Given the description of an element on the screen output the (x, y) to click on. 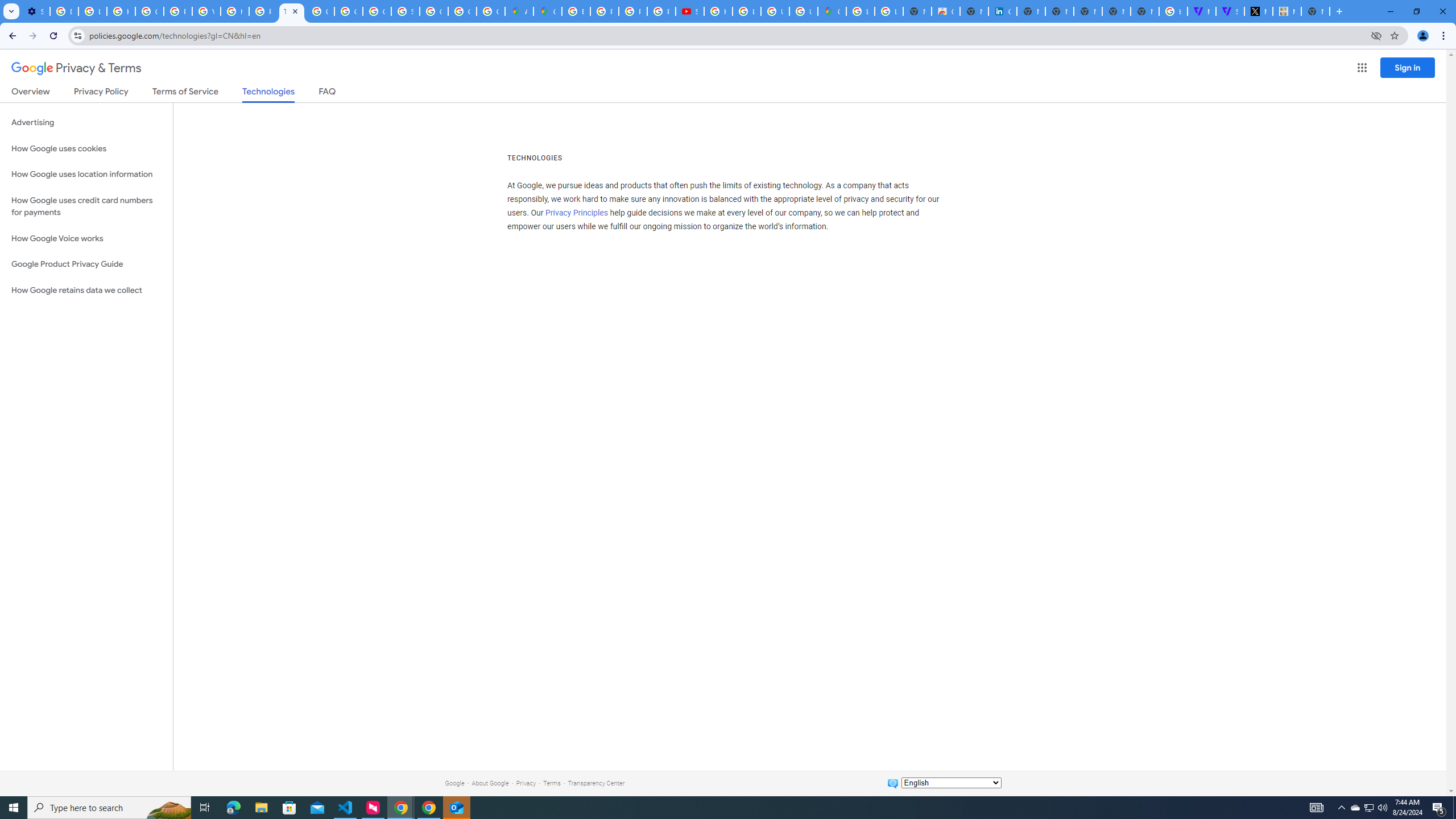
Blogger Policies and Guidelines - Transparency Center (575, 11)
Privacy Help Center - Policies Help (632, 11)
Google Maps (831, 11)
How Google uses credit card numbers for payments (86, 206)
Privacy Help Center - Policies Help (178, 11)
